Given the description of an element on the screen output the (x, y) to click on. 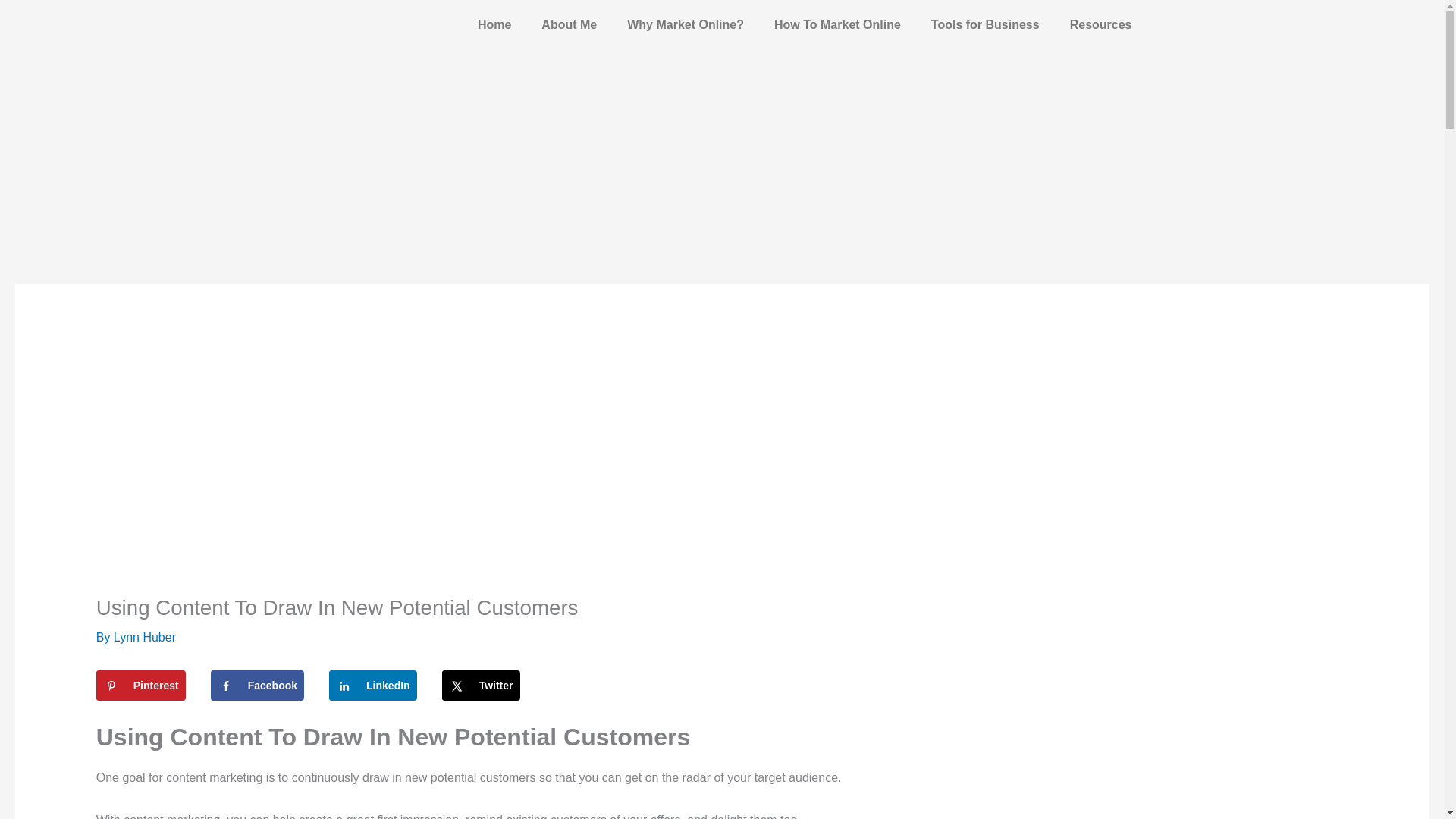
LinkedIn (372, 685)
Home (494, 24)
Save to Pinterest (141, 685)
View all posts by Lynn Huber (144, 636)
Tools for Business (984, 24)
Facebook (257, 685)
Lynn Huber (144, 636)
Why Market Online? (684, 24)
Twitter (480, 685)
Pinterest (141, 685)
